Given the description of an element on the screen output the (x, y) to click on. 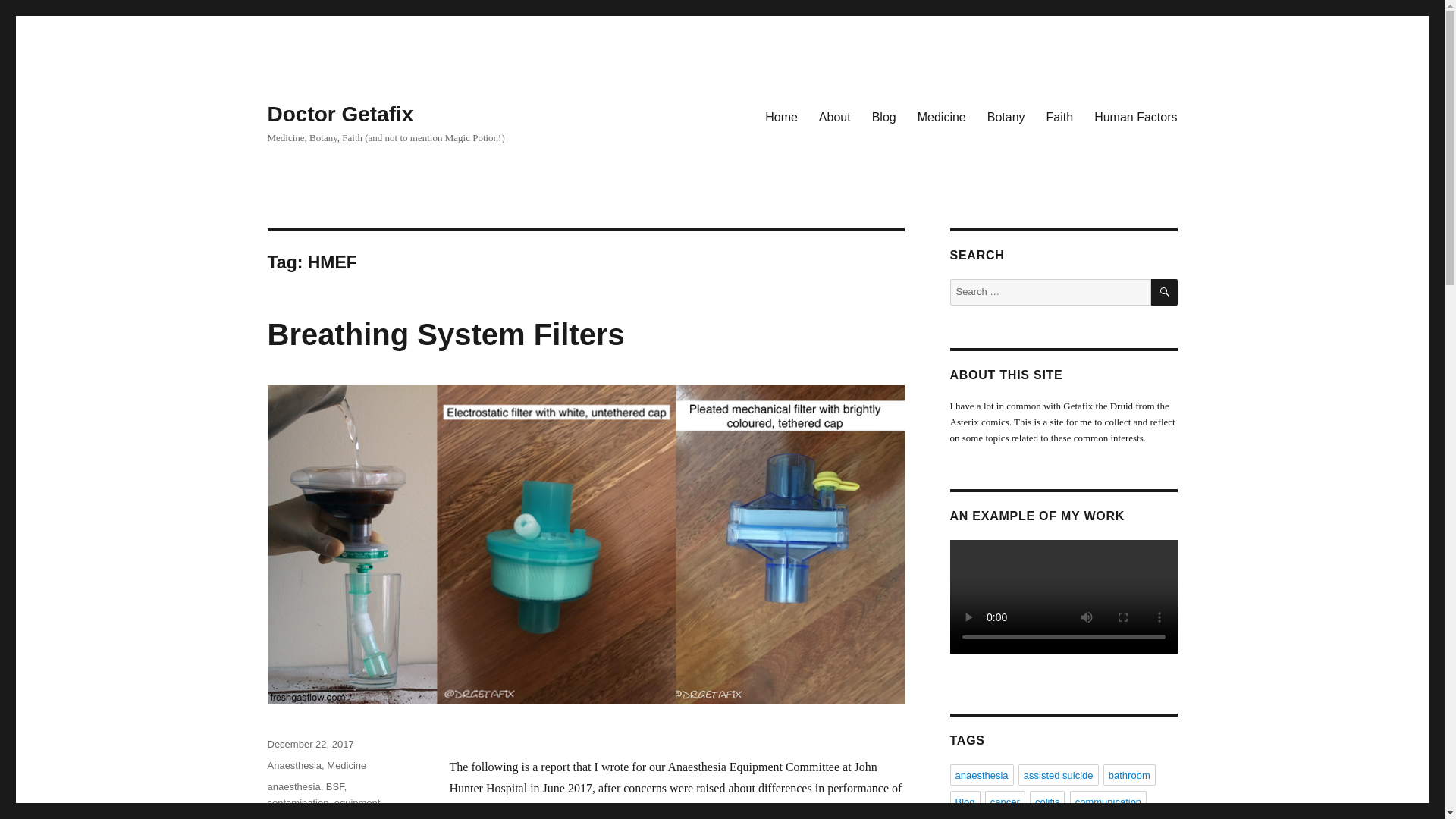
anaesthesia (981, 774)
Faith (1059, 116)
Anaesthesia (293, 765)
bathroom (1129, 774)
assisted suicide (1058, 774)
Medicine (346, 765)
filter (275, 816)
HMEF (331, 816)
About (834, 116)
equipment (357, 802)
